Given the description of an element on the screen output the (x, y) to click on. 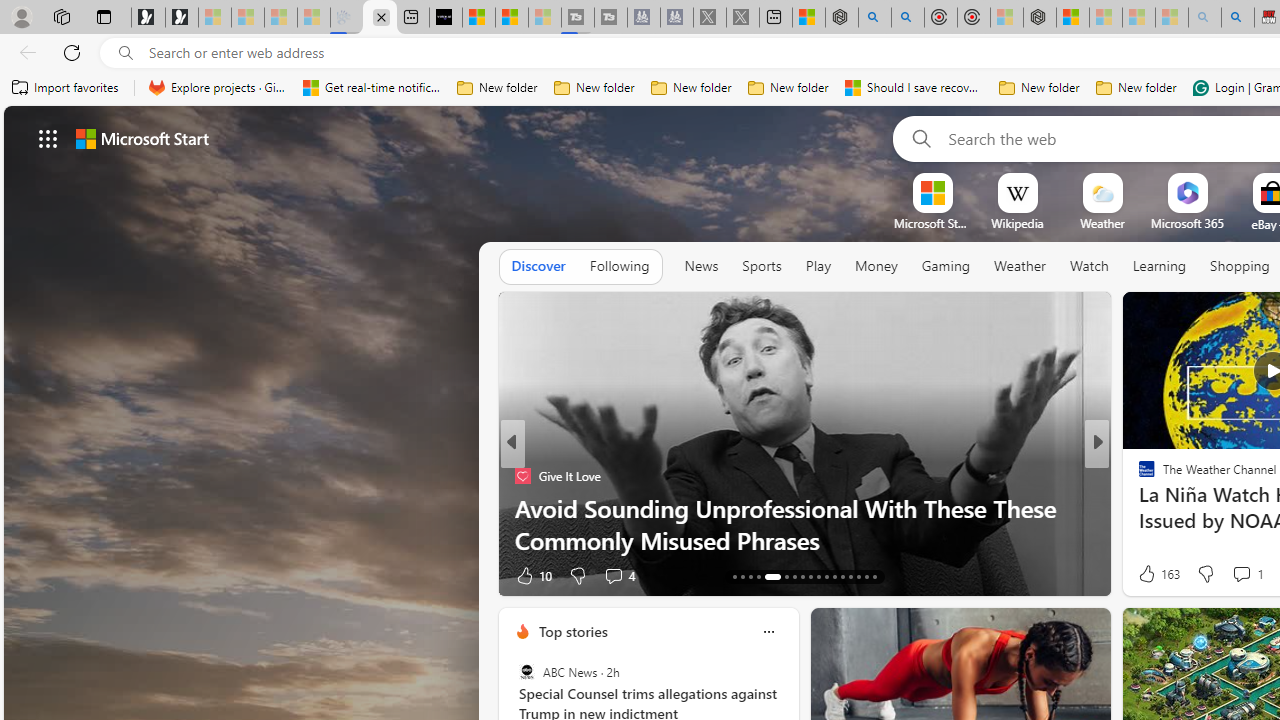
Learning (1159, 267)
The Daily Beast (1138, 475)
View comments 91 Comment (1229, 575)
The Weather Channel (1138, 475)
129 Like (1151, 574)
App launcher (47, 138)
AutomationID: tab-24 (833, 576)
